Given the description of an element on the screen output the (x, y) to click on. 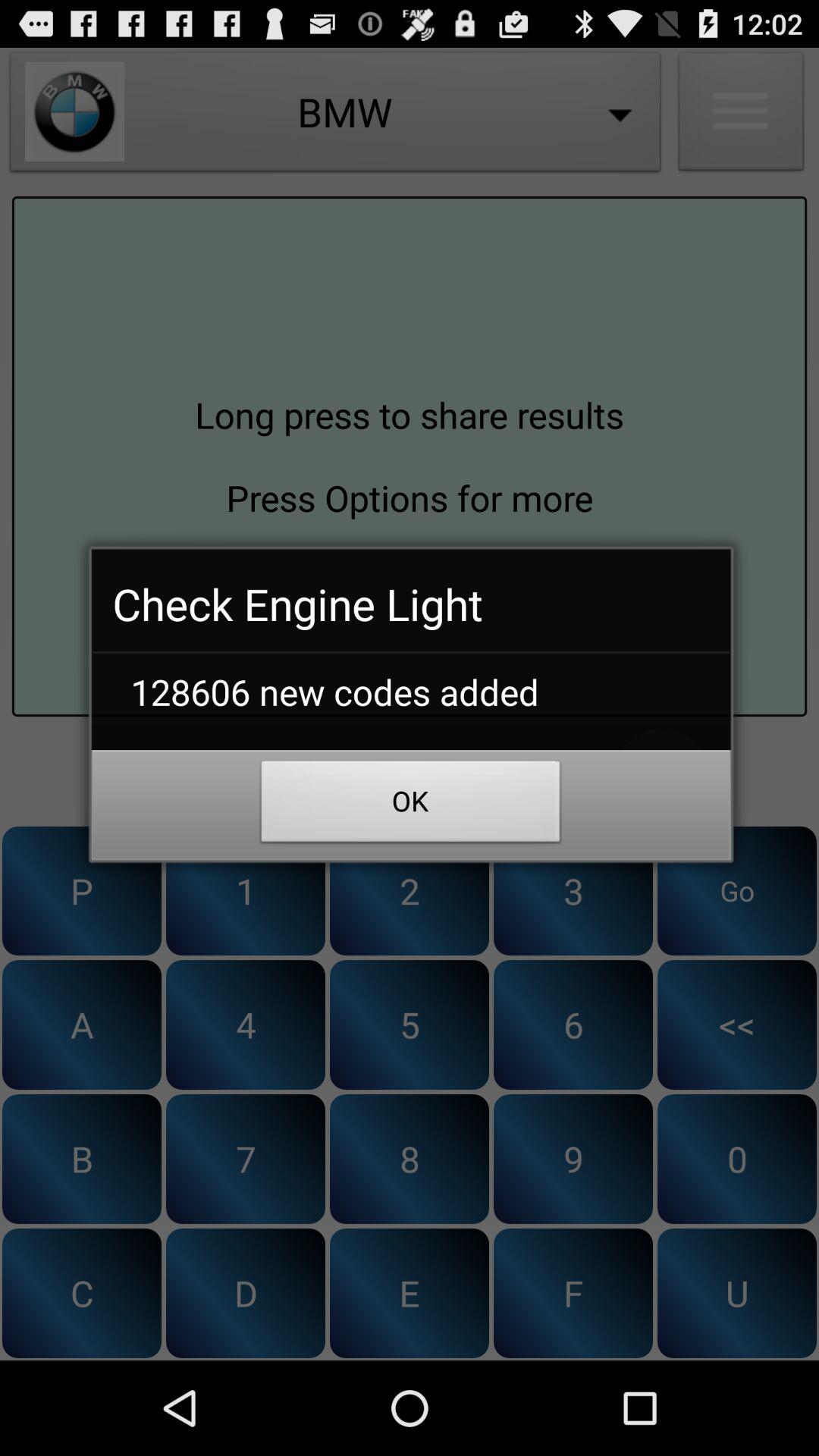
press okay (409, 774)
